Given the description of an element on the screen output the (x, y) to click on. 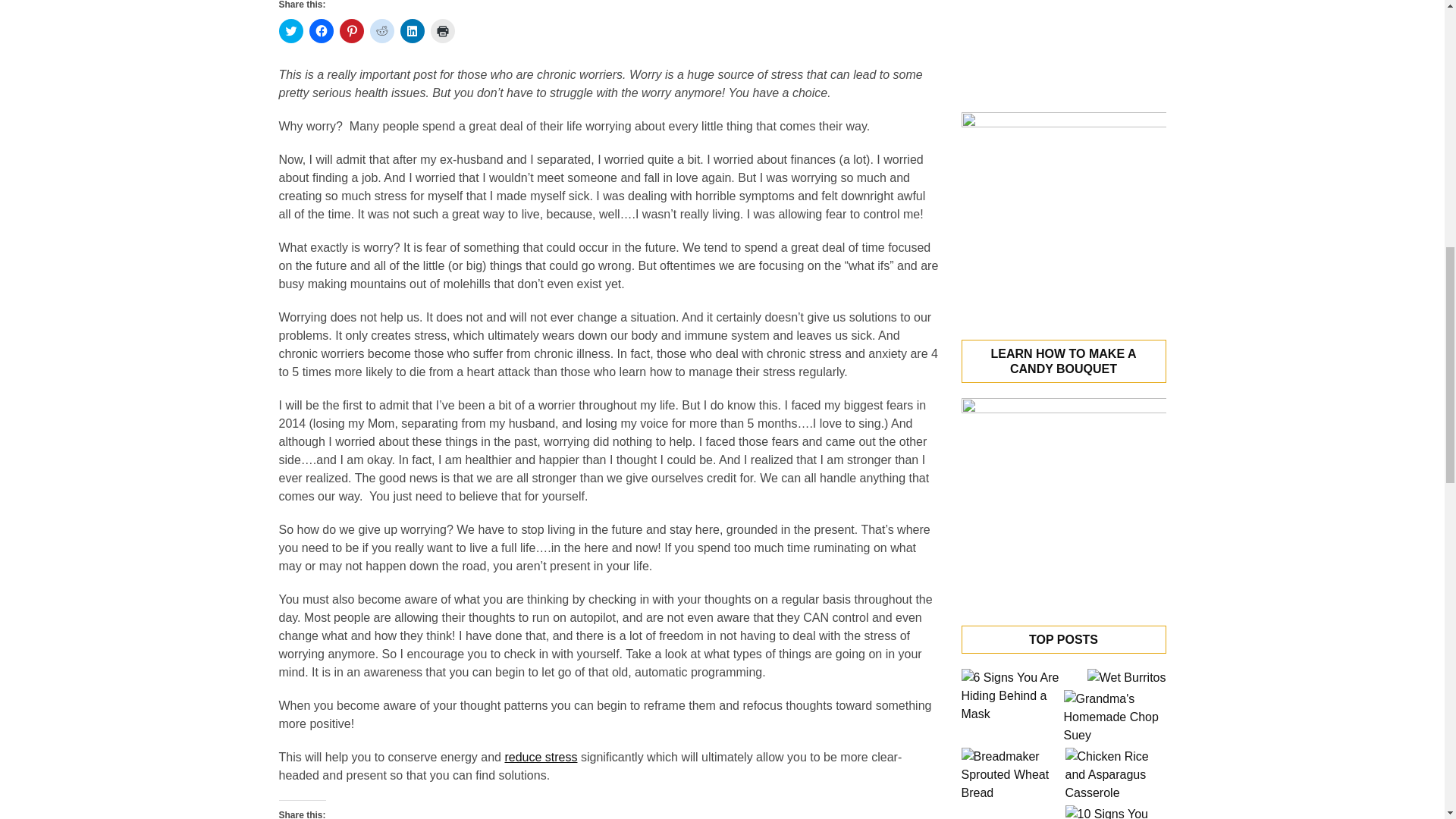
Click to share on LinkedIn (412, 30)
Click to share on Facebook (320, 30)
Click to print (442, 30)
Click to share on Reddit (381, 30)
6 Signs You Are Hiding Behind a Mask (1011, 696)
Click to share on Pinterest (351, 30)
Click to share on Twitter (290, 30)
